Given the description of an element on the screen output the (x, y) to click on. 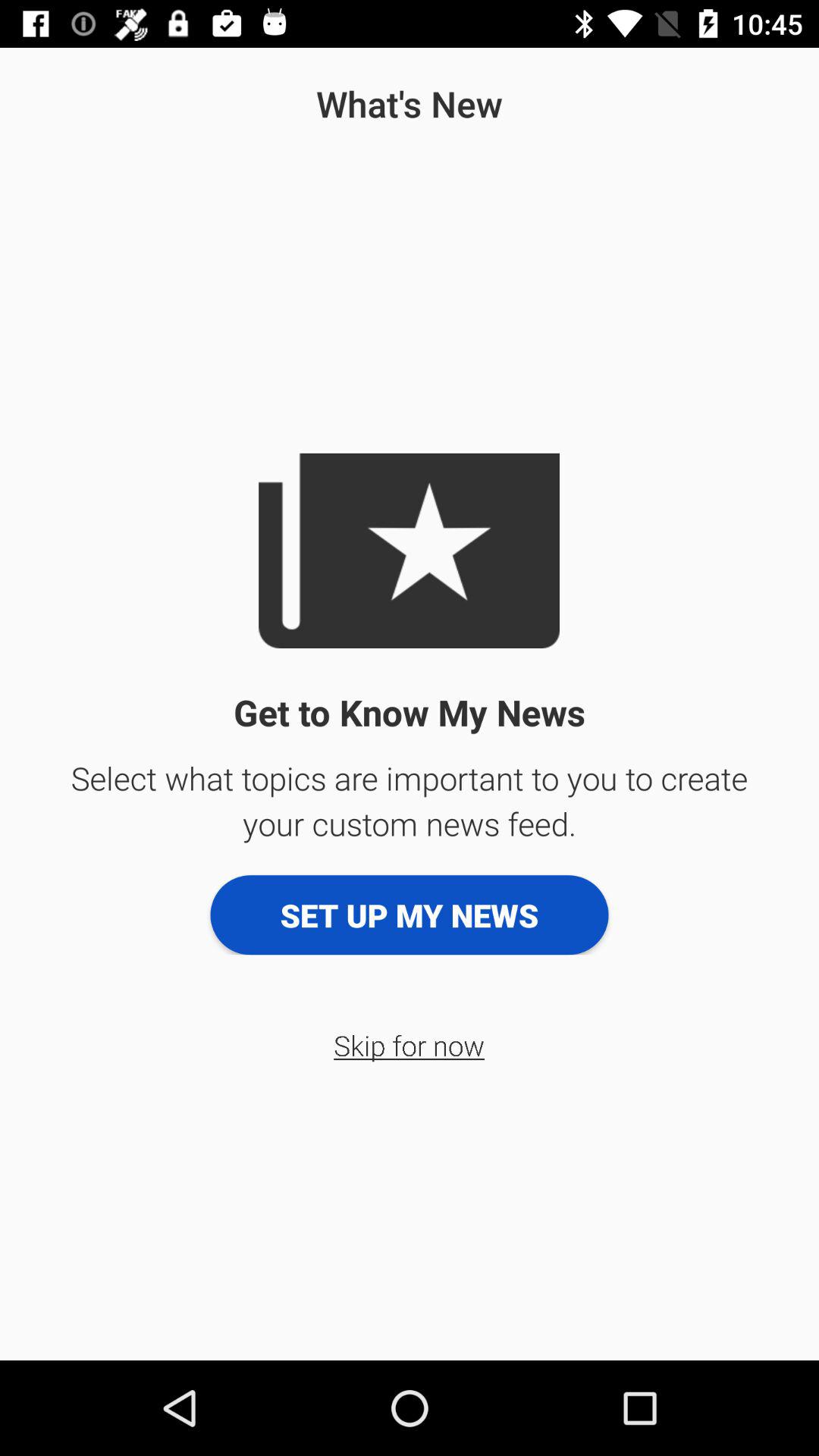
scroll to skip for now item (409, 1044)
